Given the description of an element on the screen output the (x, y) to click on. 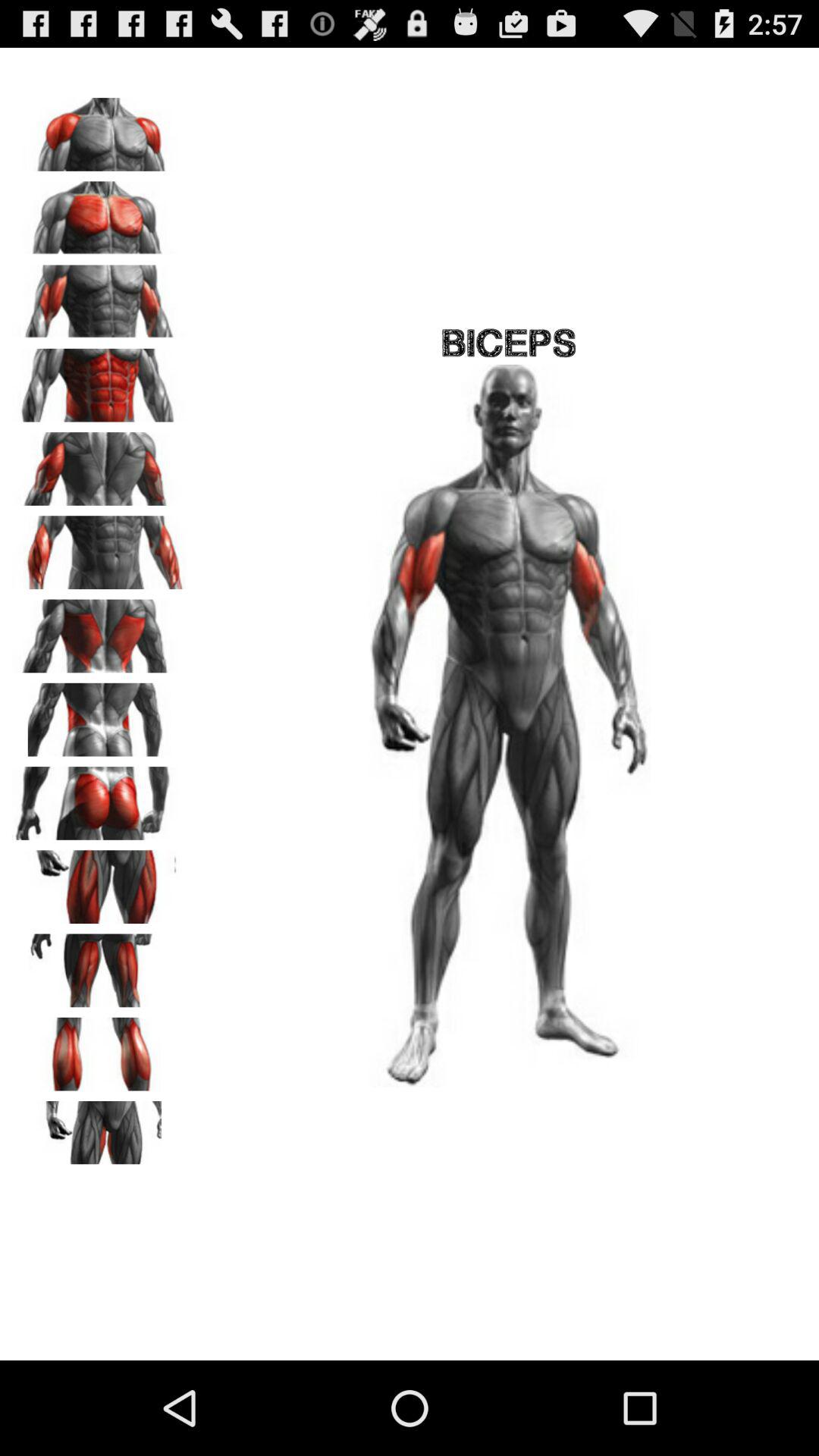
view backside muscles (99, 714)
